Given the description of an element on the screen output the (x, y) to click on. 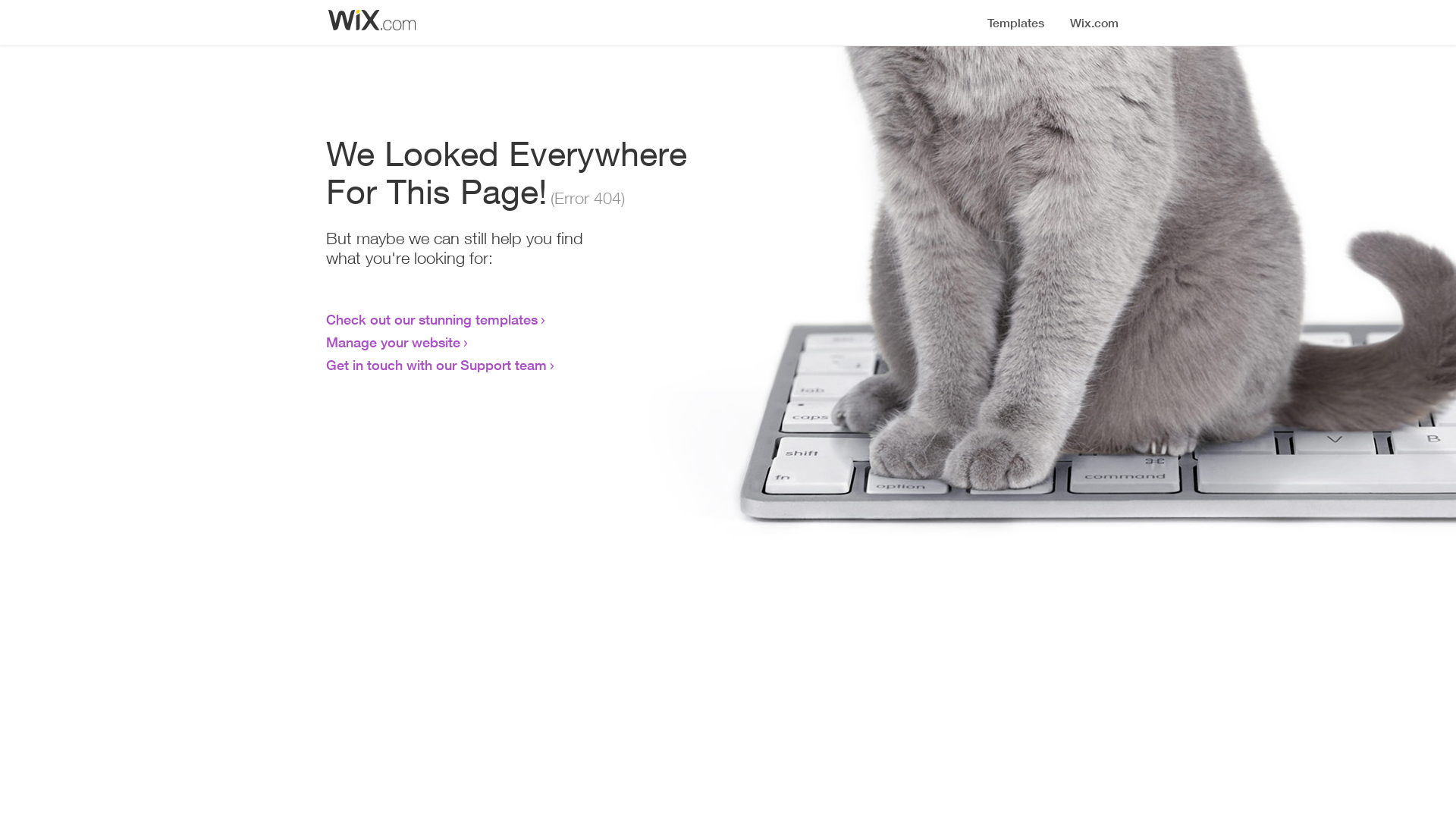
Manage your website Element type: text (393, 341)
Check out our stunning templates Element type: text (431, 318)
Get in touch with our Support team Element type: text (436, 364)
